Given the description of an element on the screen output the (x, y) to click on. 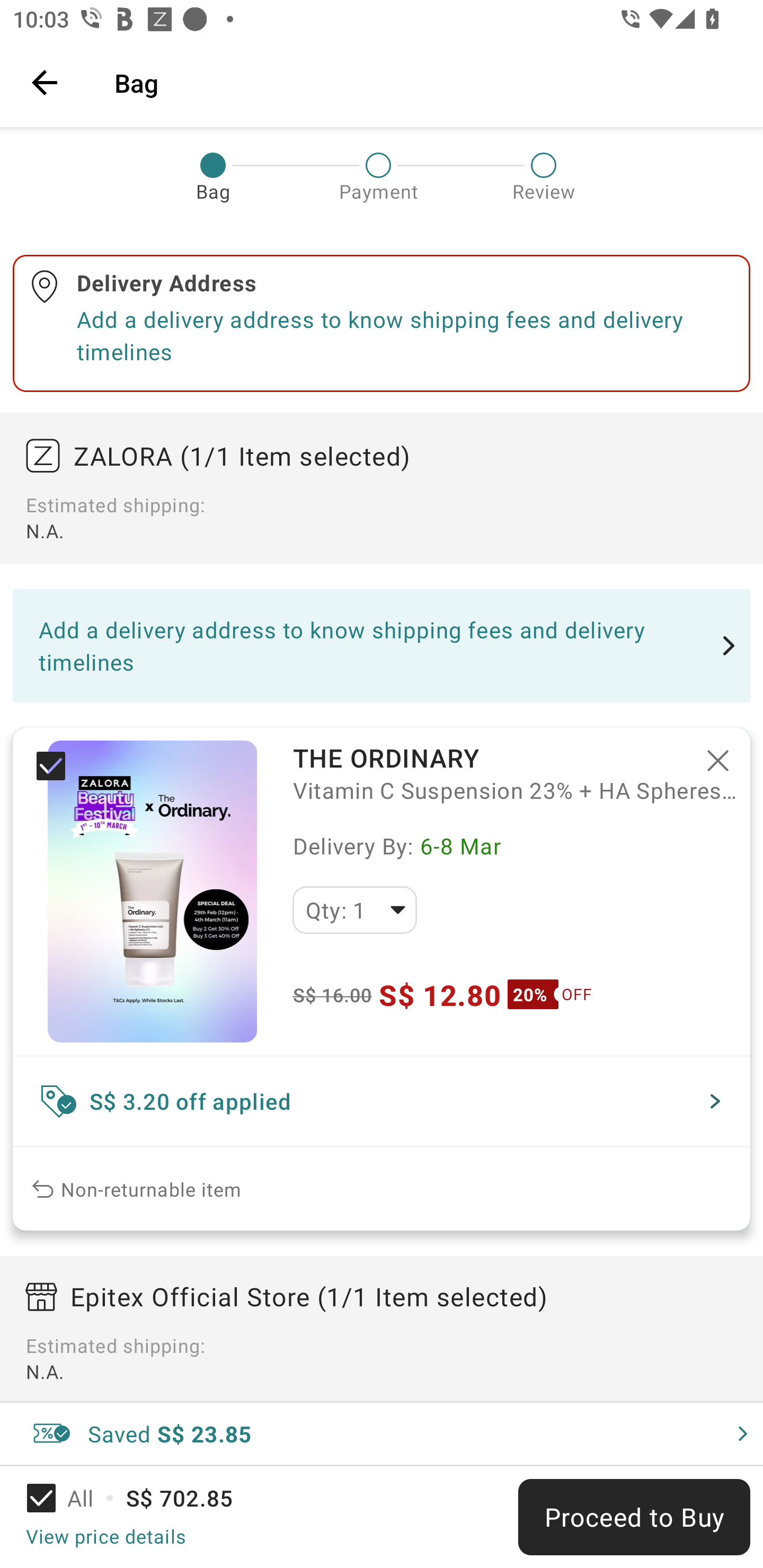
Navigate up (44, 82)
Bag (426, 82)
Qty: 1 (354, 909)
S$ 3.20 off applied (381, 1101)
Saved S$ 23.85 (381, 1433)
All (72, 1497)
Proceed to Buy (634, 1516)
View price details (105, 1535)
